Given the description of an element on the screen output the (x, y) to click on. 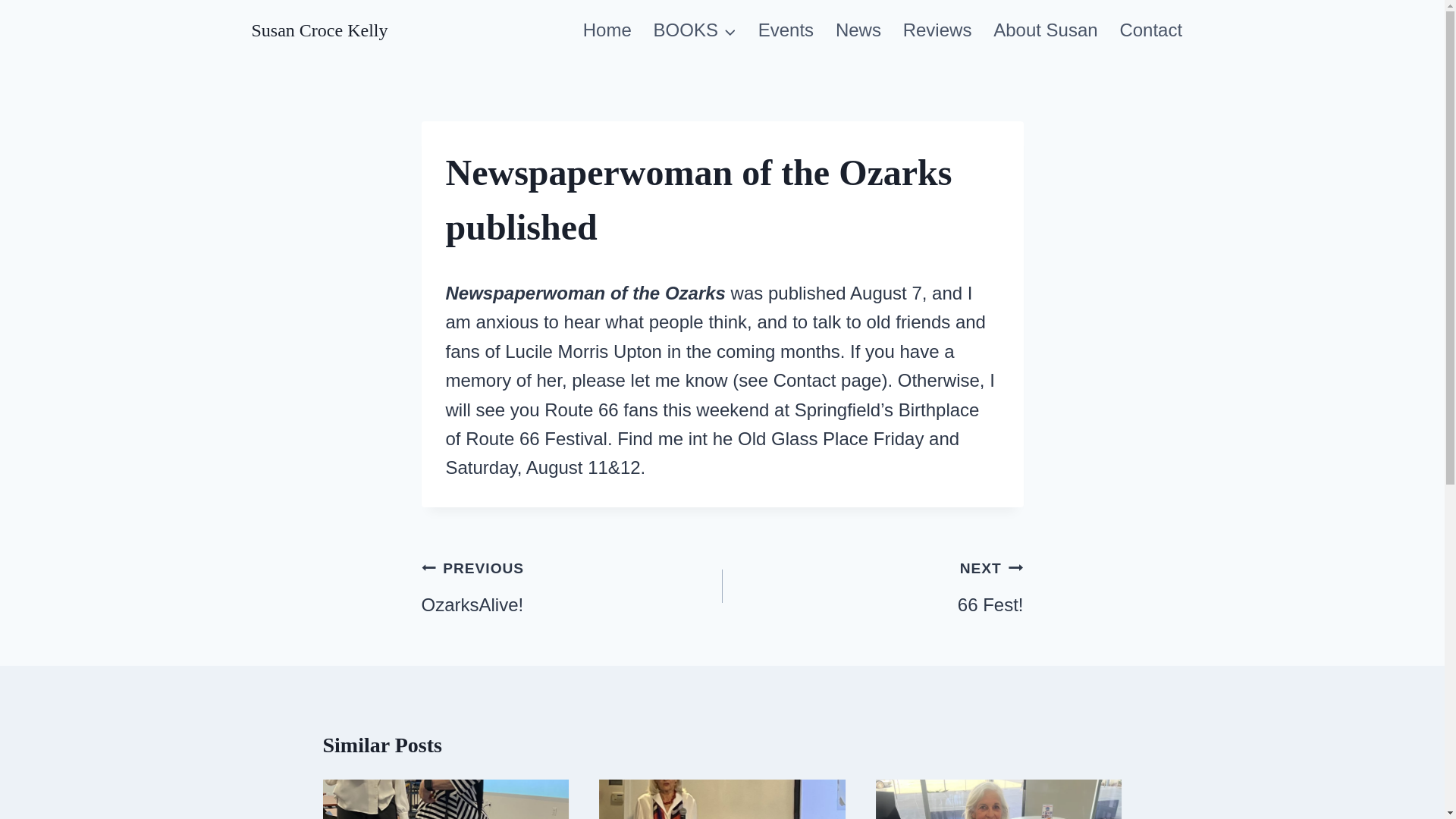
About Susan (1045, 29)
Home (607, 29)
News (858, 29)
BOOKS (872, 585)
Contact (694, 29)
Events (1150, 29)
Reviews (572, 585)
Susan Croce Kelly (785, 29)
